Given the description of an element on the screen output the (x, y) to click on. 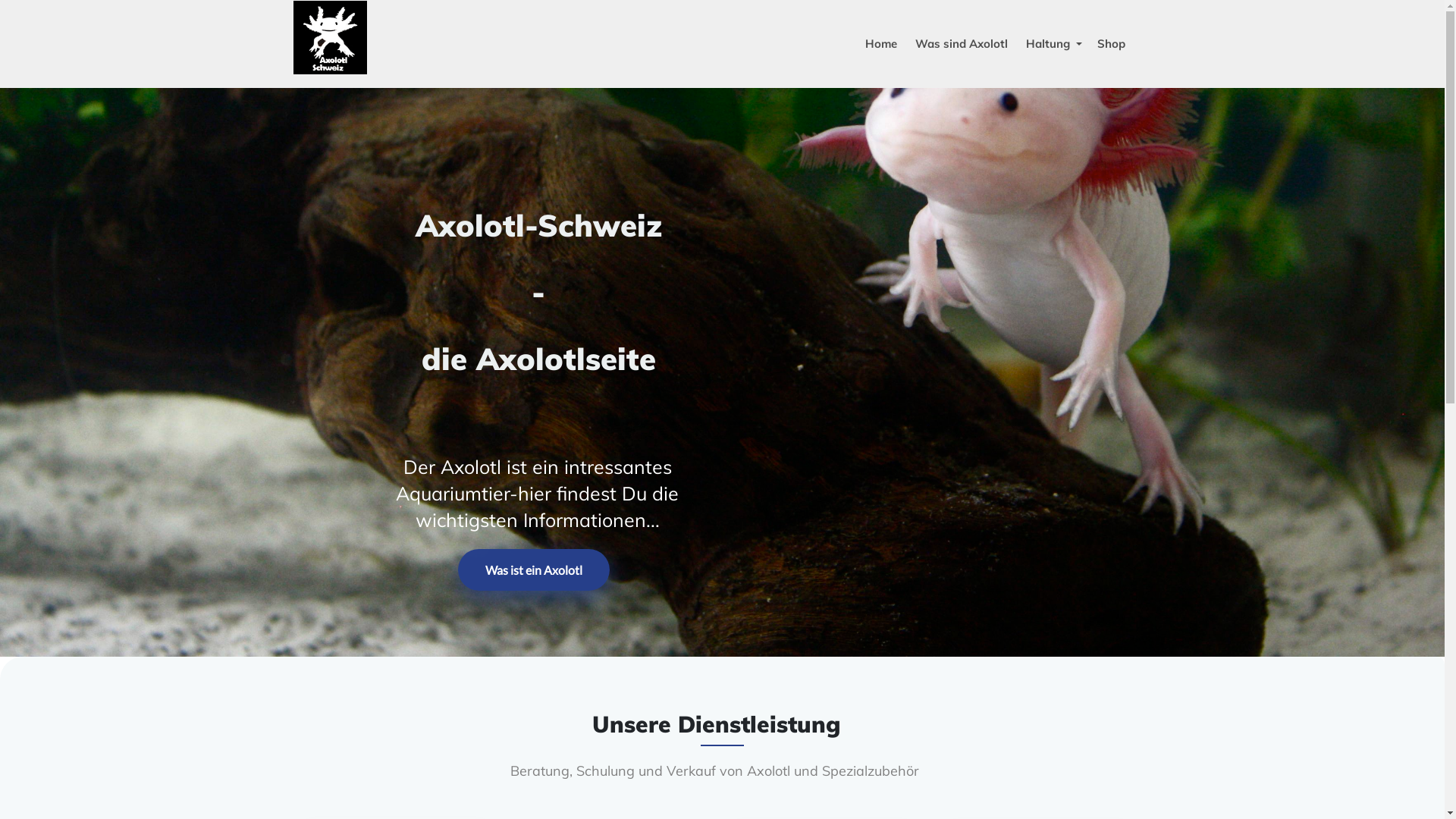
Shop Element type: text (1111, 43)
Home Element type: text (881, 43)
Was ist ein Axolotl Element type: text (533, 569)
Haltung Element type: text (1052, 43)
Was sind Axolotl Element type: text (961, 43)
